Given the description of an element on the screen output the (x, y) to click on. 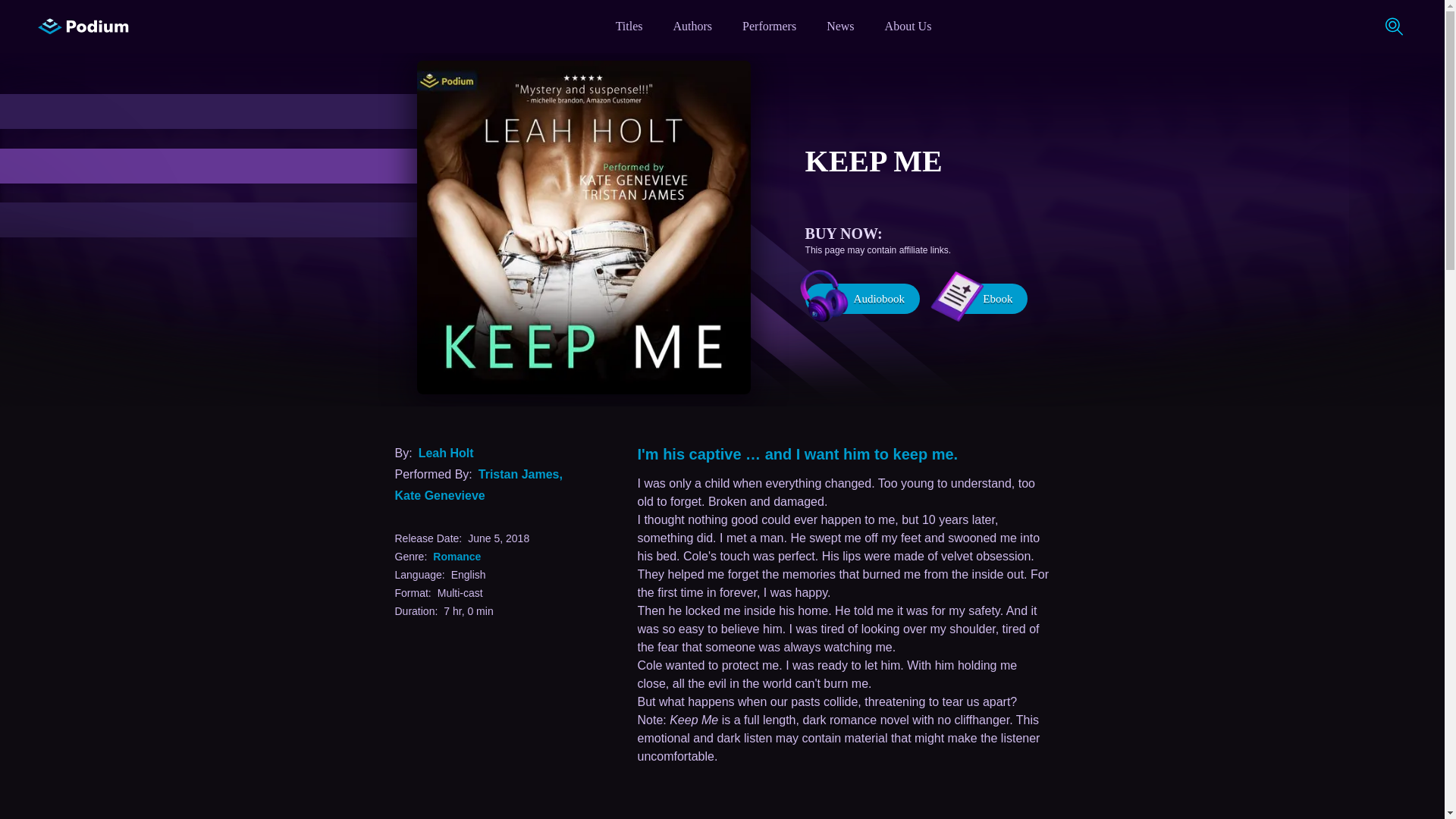
, Kate Genevieve (478, 484)
Romance (456, 555)
Authors (693, 26)
Performers (768, 26)
Leah Holt (446, 452)
Tristan James (519, 473)
Ebook (985, 298)
Audiobook (862, 298)
About Us (908, 26)
News (839, 26)
Titles (628, 26)
